Given the description of an element on the screen output the (x, y) to click on. 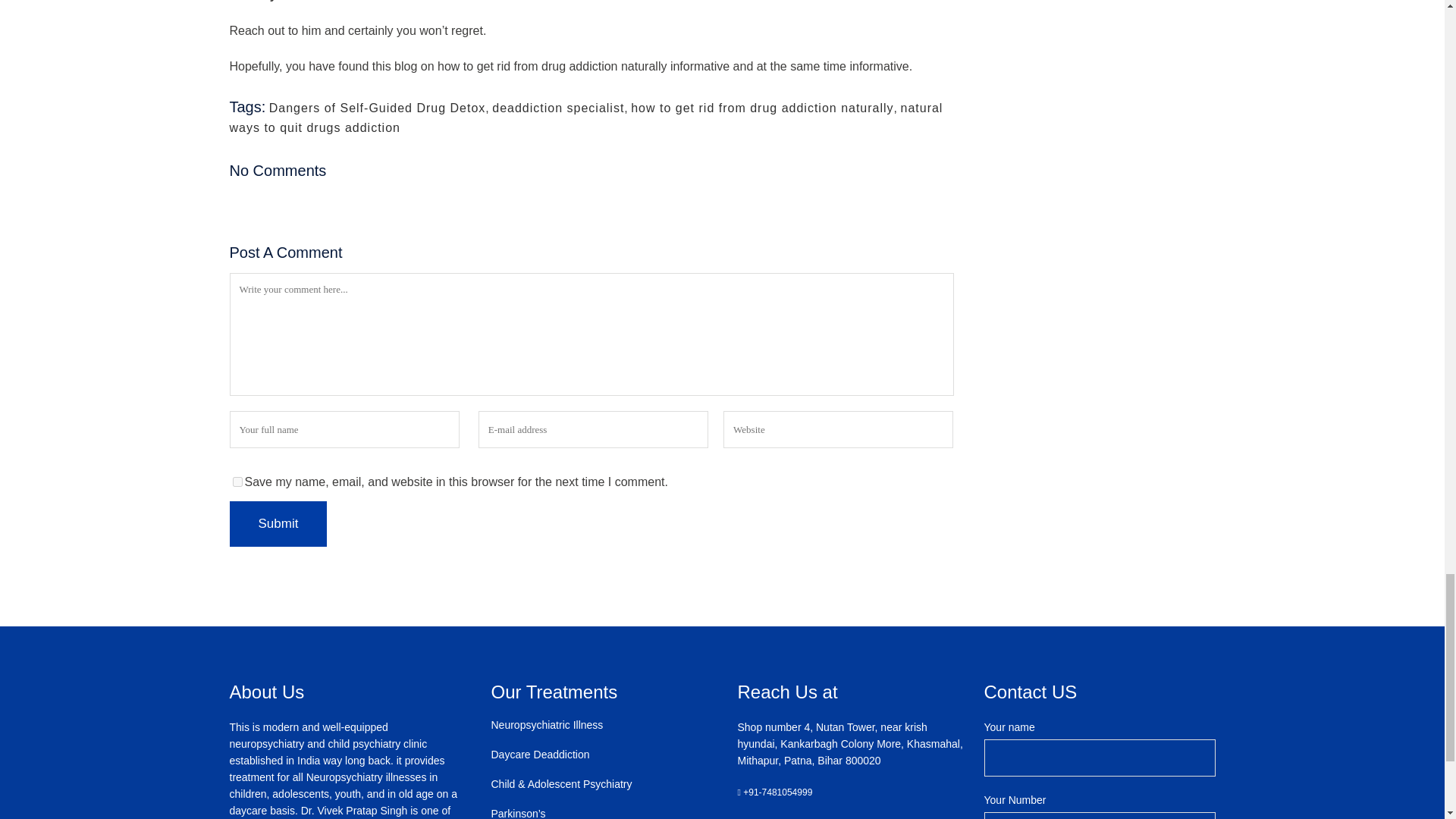
yes (236, 481)
Submit (277, 524)
